Given the description of an element on the screen output the (x, y) to click on. 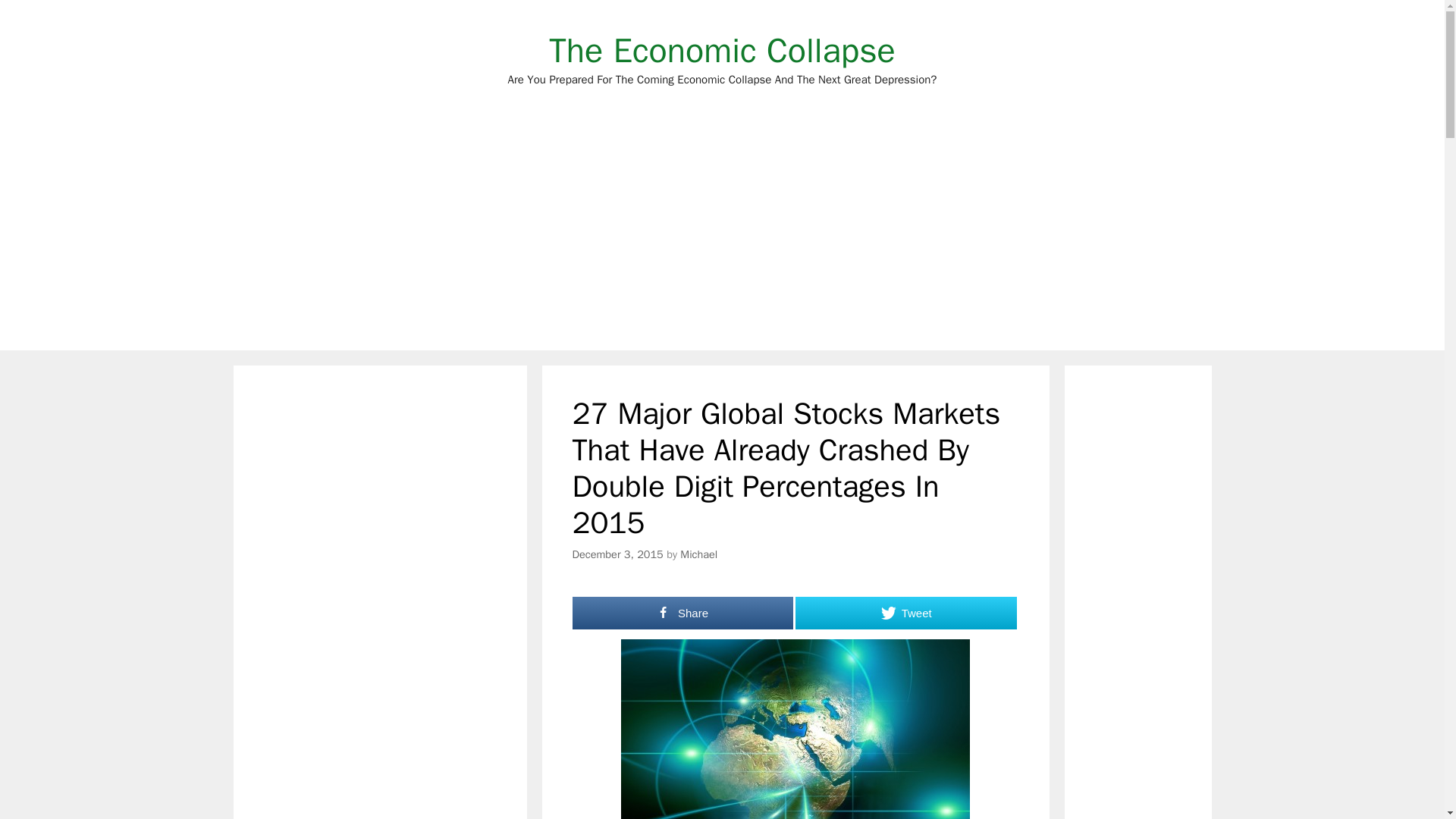
Michael (698, 554)
The Economic Collapse (721, 50)
Tweet (905, 613)
View all posts by Michael (698, 554)
Share (682, 613)
5:37 pm (617, 554)
December 3, 2015 (617, 554)
